Given the description of an element on the screen output the (x, y) to click on. 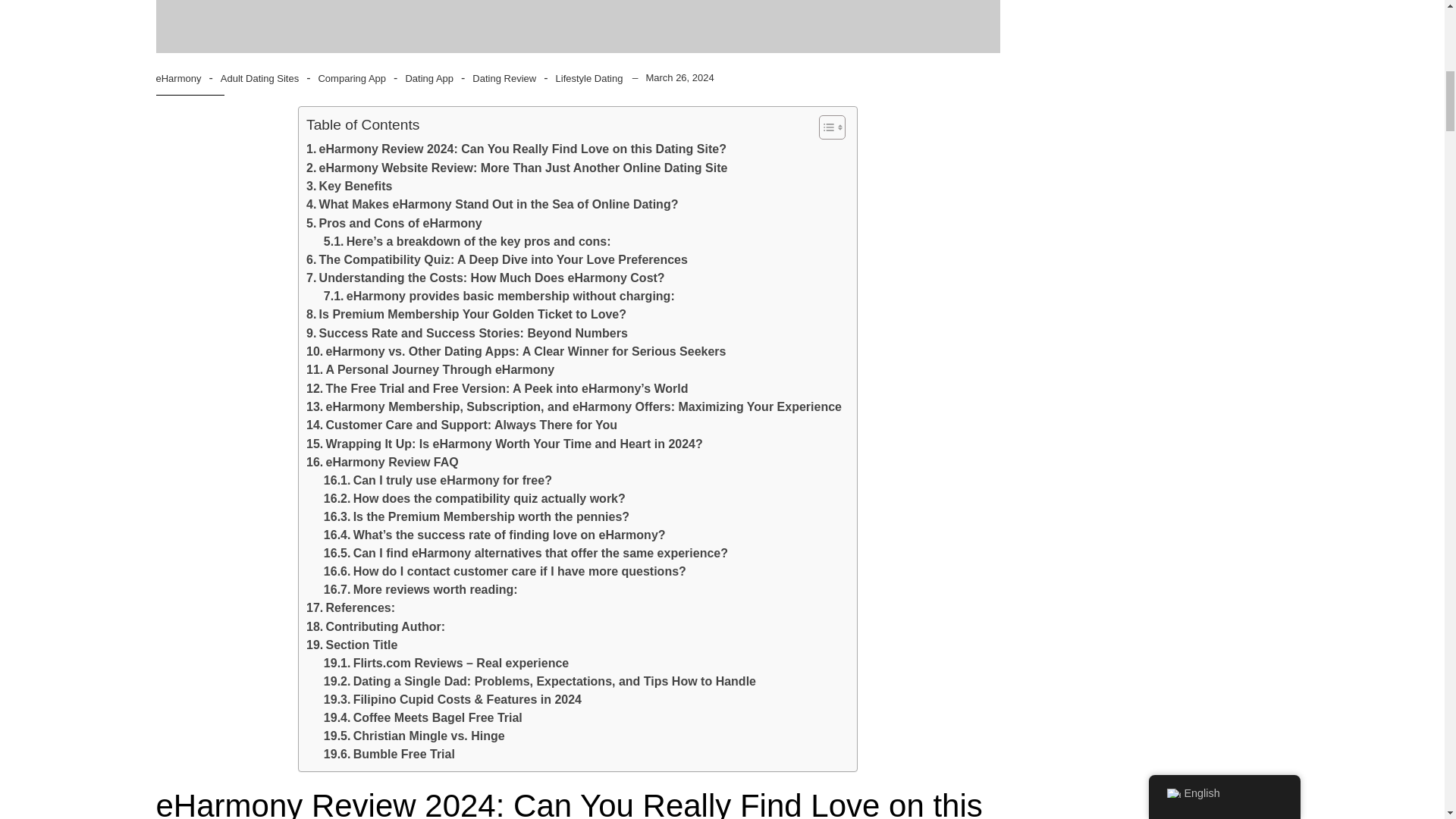
eHarmony provides basic membership without charging: (499, 296)
Success Rate and Success Stories: Beyond Numbers (466, 333)
Is Premium Membership Your Golden Ticket to Love? (465, 314)
Pros and Cons of eHarmony (393, 223)
What Makes eHarmony Stand Out in the Sea of Online Dating? (491, 204)
Understanding the Costs: How Much Does eHarmony Cost? (485, 278)
Key Benefits (348, 186)
A Personal Journey Through eHarmony (429, 370)
